Given the description of an element on the screen output the (x, y) to click on. 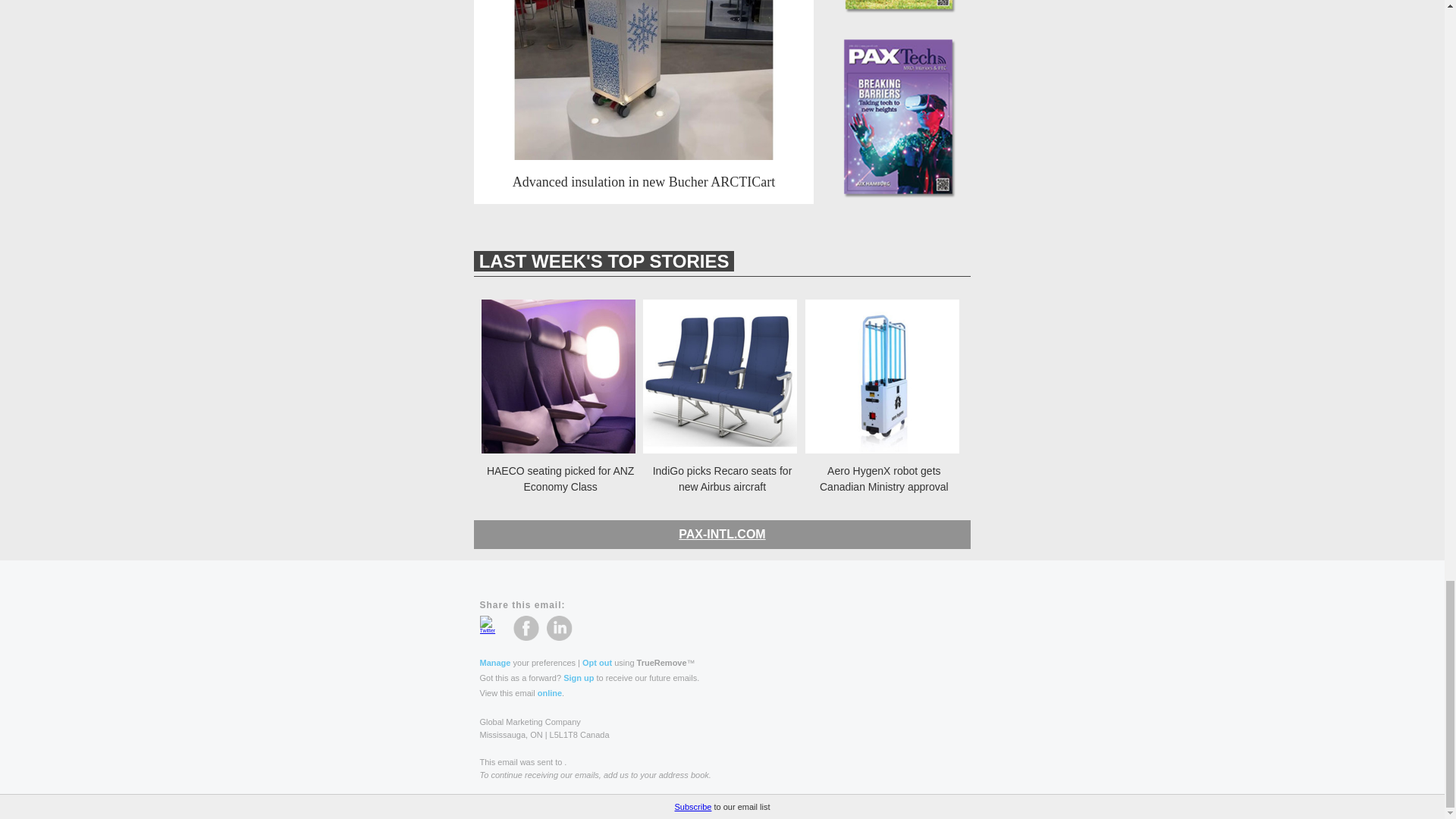
Sign up (578, 677)
PAX-INTL.COM (721, 533)
Manage (495, 662)
Opt out (596, 662)
online (549, 692)
